Given the description of an element on the screen output the (x, y) to click on. 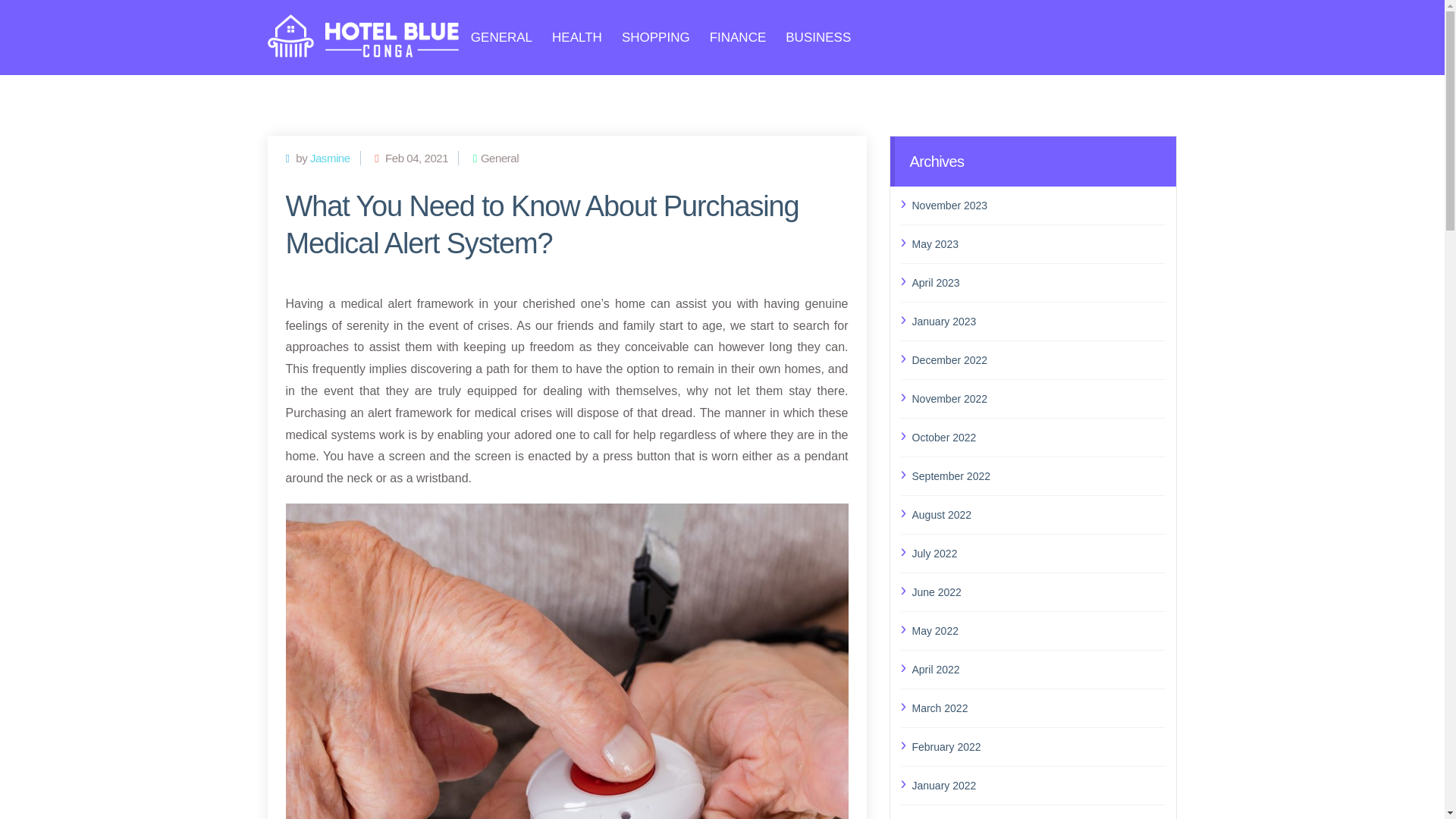
November 2023 (1038, 205)
July 2022 (1038, 553)
September 2022 (1038, 476)
December 2021 (1038, 816)
April 2022 (1038, 669)
FINANCE (738, 38)
February 2022 (1038, 746)
June 2022 (1038, 591)
GENERAL (501, 38)
October 2022 (1038, 437)
January 2022 (1038, 785)
HEALTH (576, 38)
March 2022 (1038, 708)
Jasmine (330, 157)
BUSINESS (818, 38)
